Given the description of an element on the screen output the (x, y) to click on. 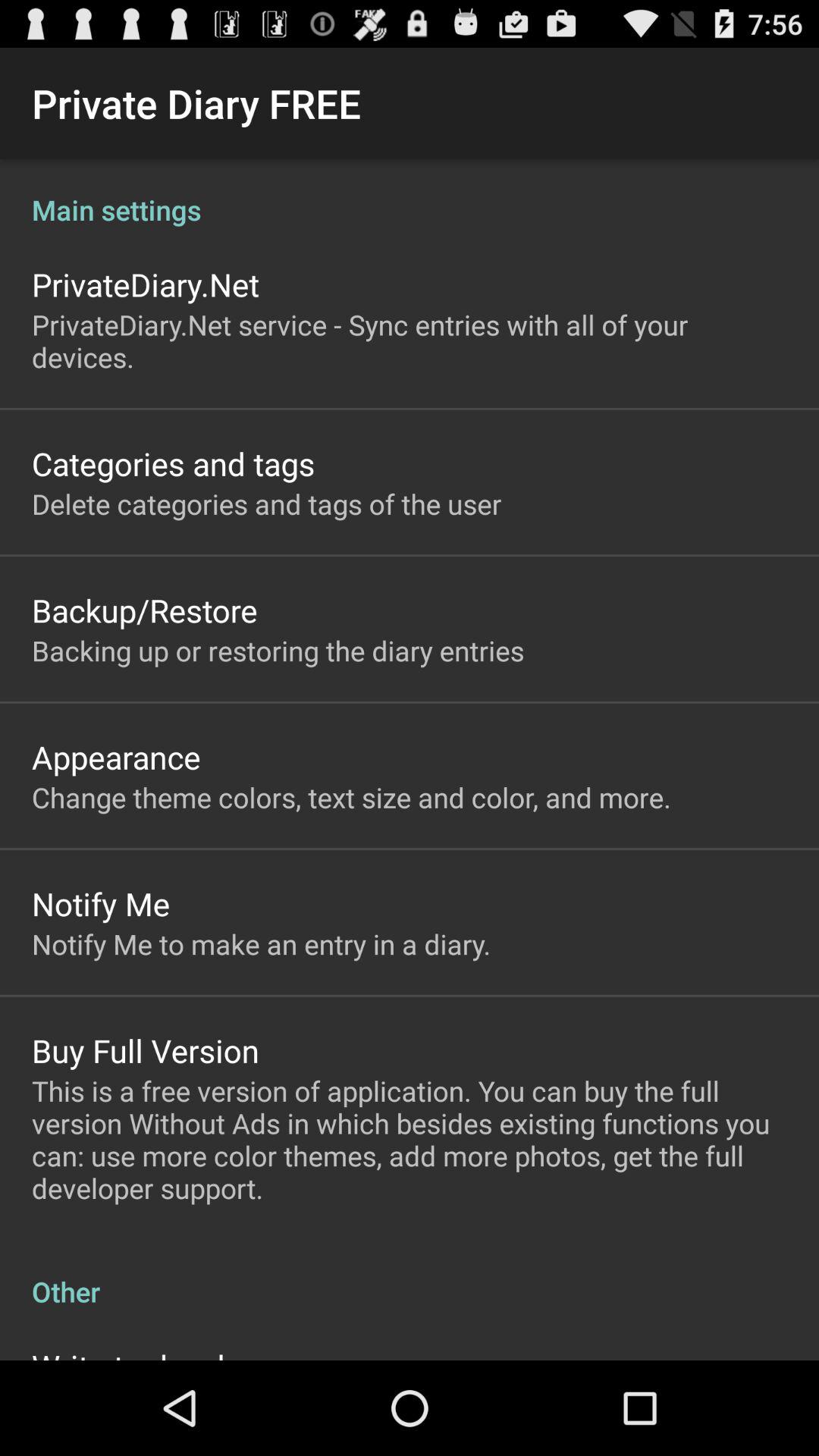
press the appearance icon (115, 756)
